Given the description of an element on the screen output the (x, y) to click on. 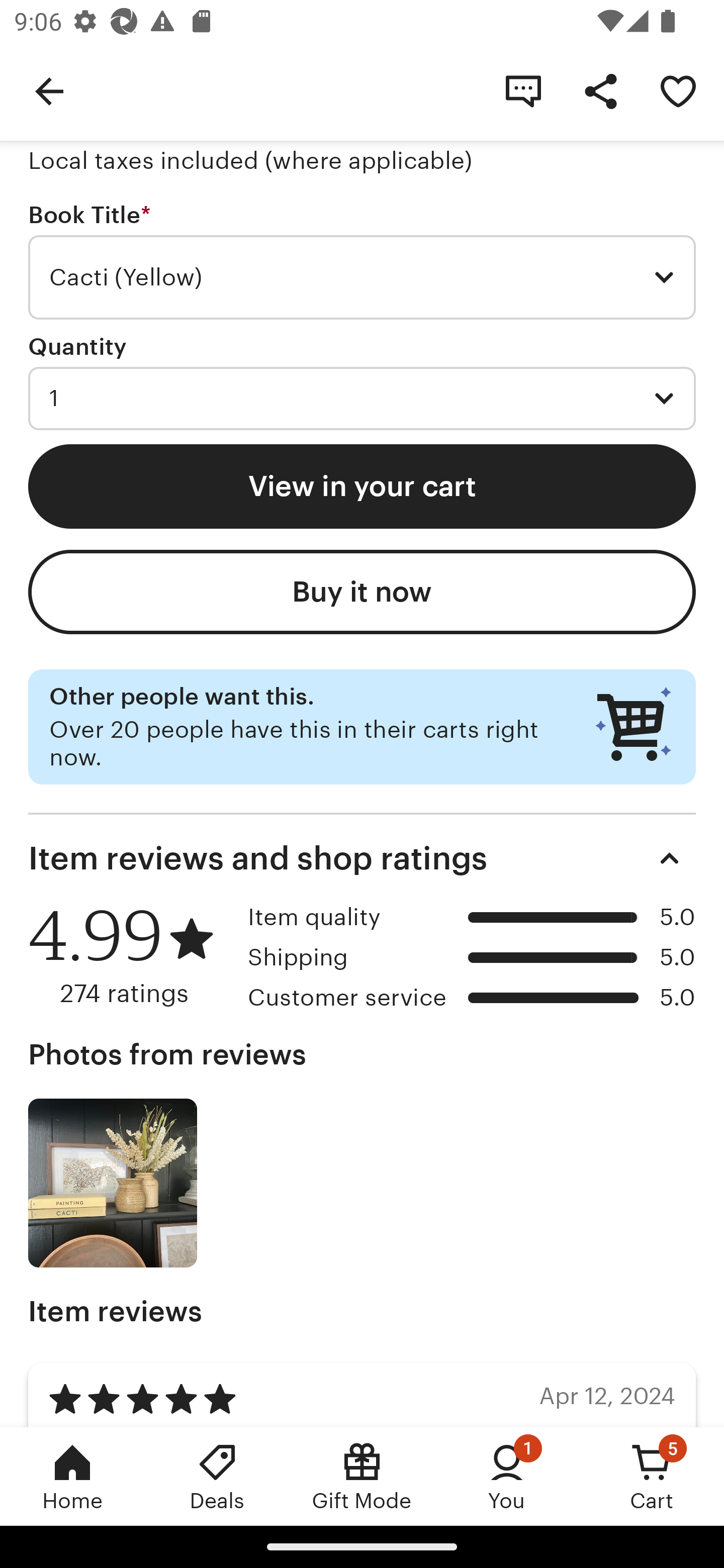
Navigate up (49, 90)
Contact shop (523, 90)
Share (600, 90)
Book Title * Required Cacti (Yellow) (361, 260)
Cacti (Yellow) (361, 277)
Quantity (77, 346)
1 (361, 397)
View in your cart (361, 485)
Buy it now (361, 591)
Item reviews and shop ratings (362, 858)
4.99 274 ratings (130, 956)
Photo from review (112, 1182)
Deals (216, 1475)
Gift Mode (361, 1475)
You, 1 new notification You (506, 1475)
Cart, 5 new notifications Cart (651, 1475)
